Given the description of an element on the screen output the (x, y) to click on. 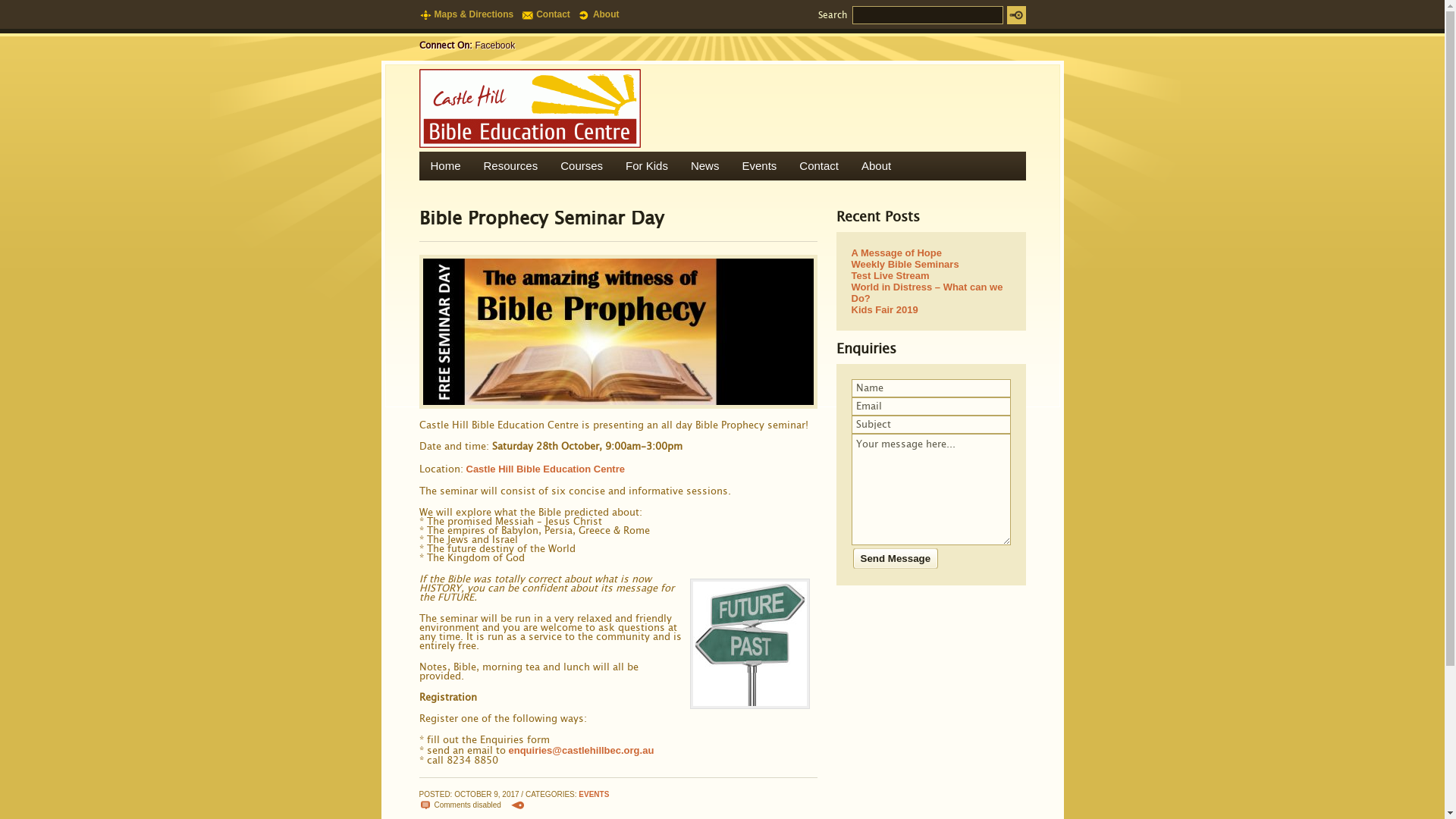
Send Message Element type: text (893, 558)
EVENTS Element type: text (593, 794)
About Element type: text (602, 14)
Castle Hill Bible Education Centre Element type: text (544, 468)
Kids Fair 2019 Element type: text (930, 309)
Events Element type: text (758, 165)
Courses Element type: text (581, 165)
News Element type: text (705, 165)
Contact Element type: text (548, 14)
Resources Element type: text (510, 165)
A Message of Hope Element type: text (930, 252)
Facebook Element type: text (494, 45)
Maps & Directions Element type: text (469, 14)
For Kids Element type: text (646, 165)
Contact Element type: text (818, 165)
Weekly Bible Seminars Element type: text (930, 263)
Home Element type: text (444, 165)
enquiries@castlehillbec.org.au Element type: text (580, 750)
Test Live Stream Element type: text (930, 275)
About Element type: text (876, 165)
